Given the description of an element on the screen output the (x, y) to click on. 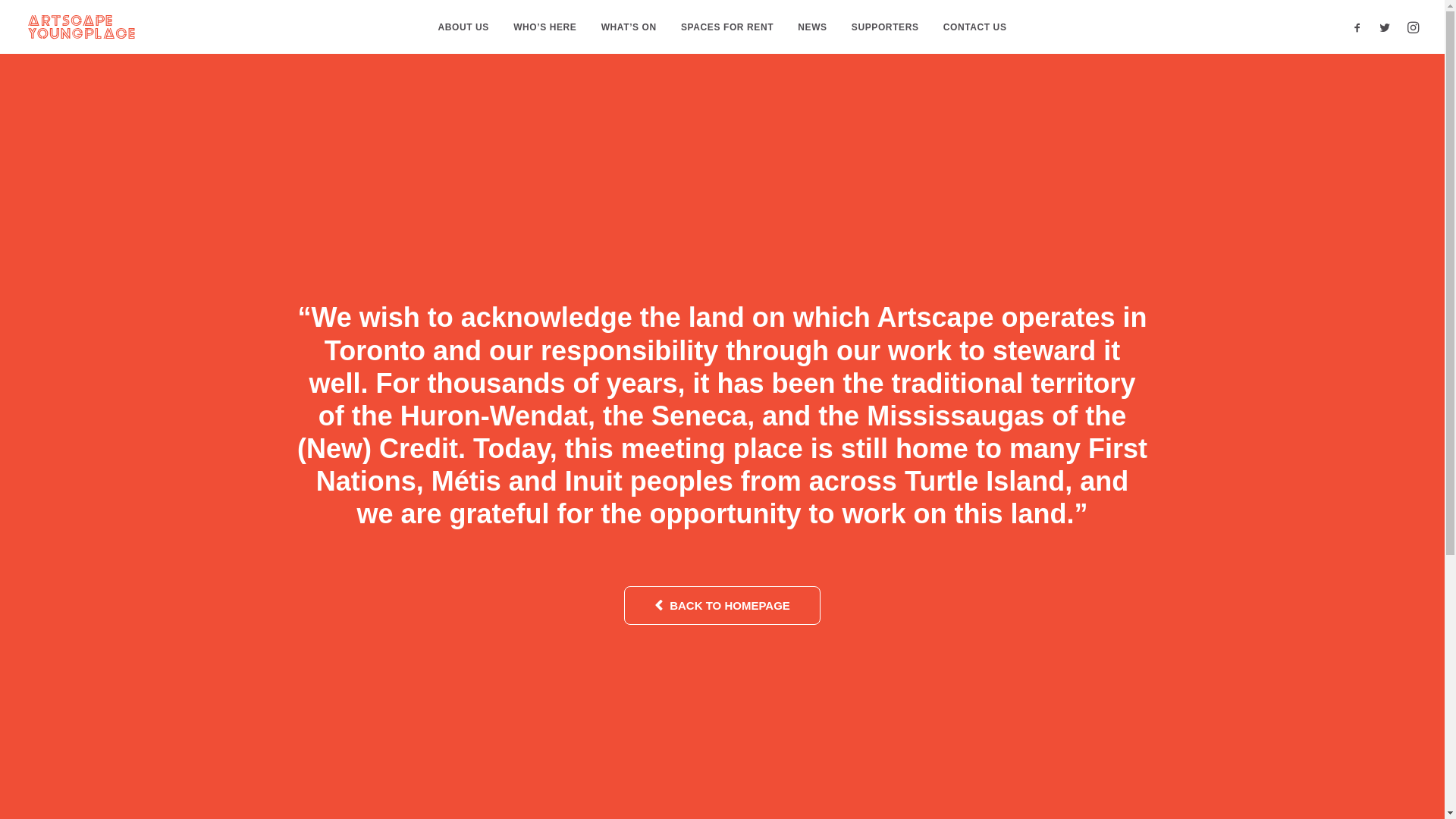
ABOUT US Element type: text (462, 26)
BACK TO HOMEPAGE Element type: text (722, 605)
SPACES FOR RENT Element type: text (727, 26)
CONTACT US Element type: text (974, 26)
SUPPORTERS Element type: text (884, 26)
NEWS Element type: text (812, 26)
